Given the description of an element on the screen output the (x, y) to click on. 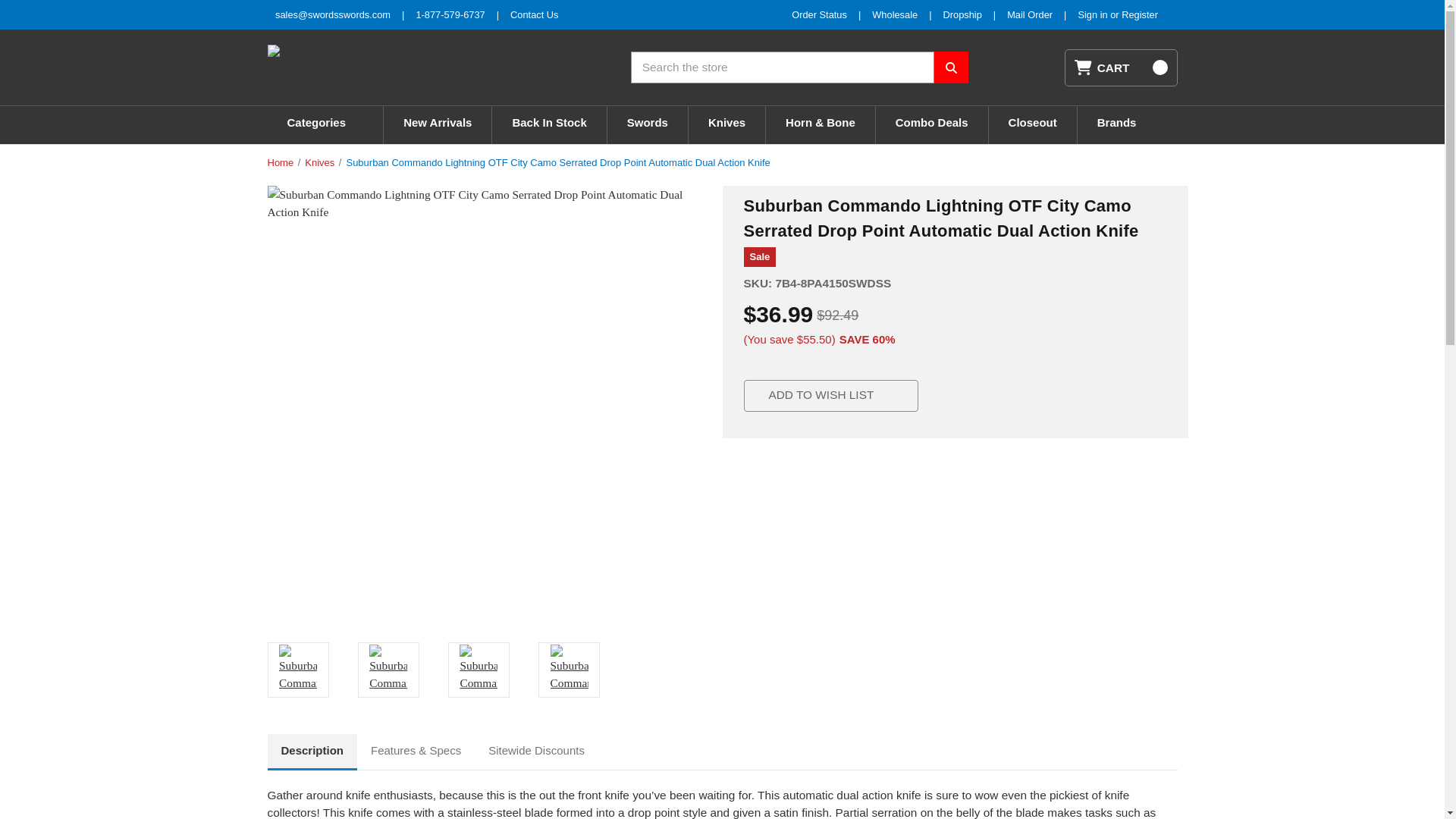
Wholesale (894, 14)
Wholesale Form (894, 14)
Dropship (962, 14)
Contact us (534, 14)
1-877-579-6737 (449, 14)
Mail Order (1029, 14)
Register (1139, 14)
Login (1093, 14)
Order Status (819, 14)
Mail Order (1029, 14)
